Given the description of an element on the screen output the (x, y) to click on. 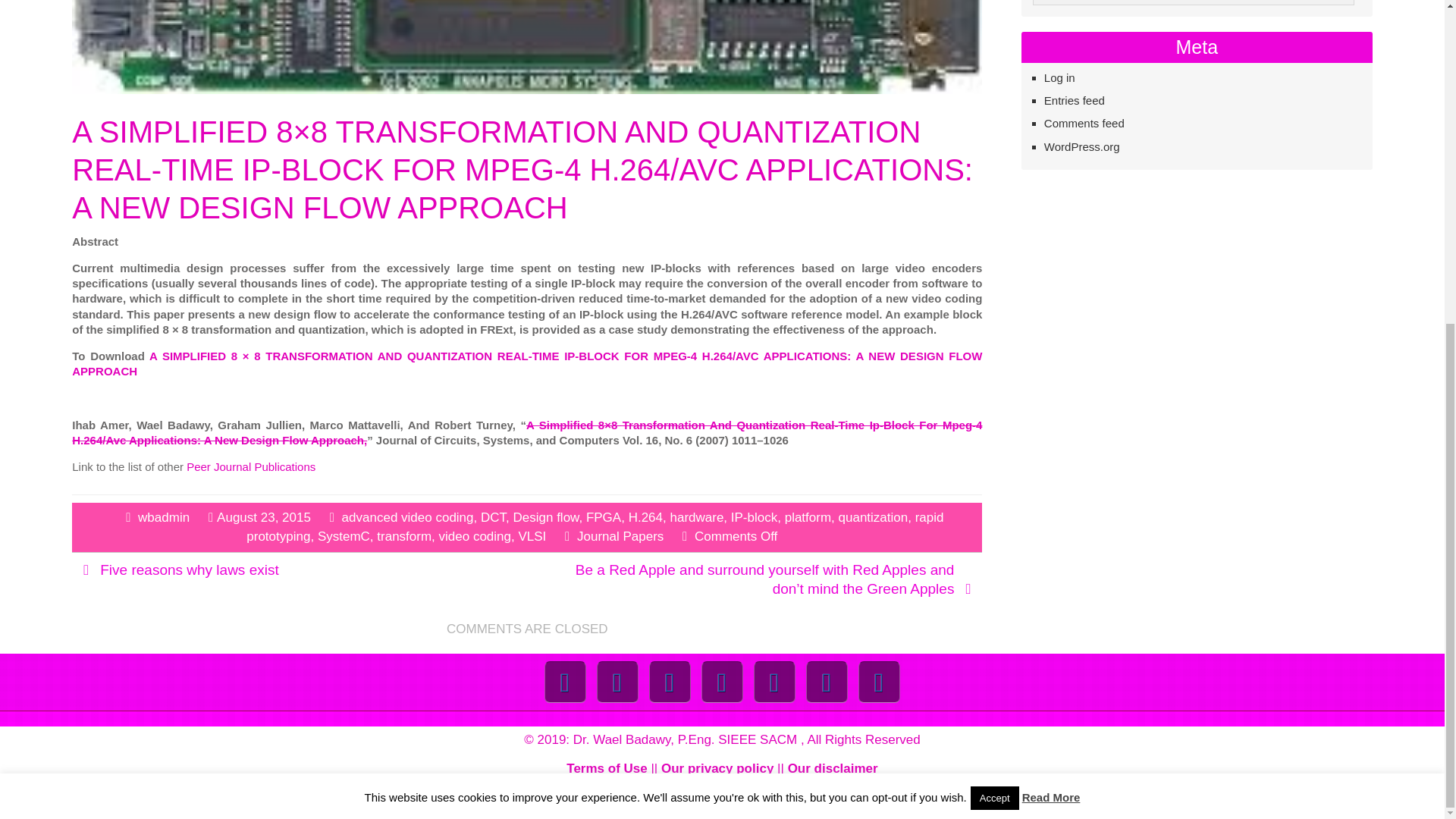
advanced video coding (408, 517)
Peer Journal Publications (250, 466)
wbadmin (163, 517)
Posts by wbadmin (163, 517)
